Given the description of an element on the screen output the (x, y) to click on. 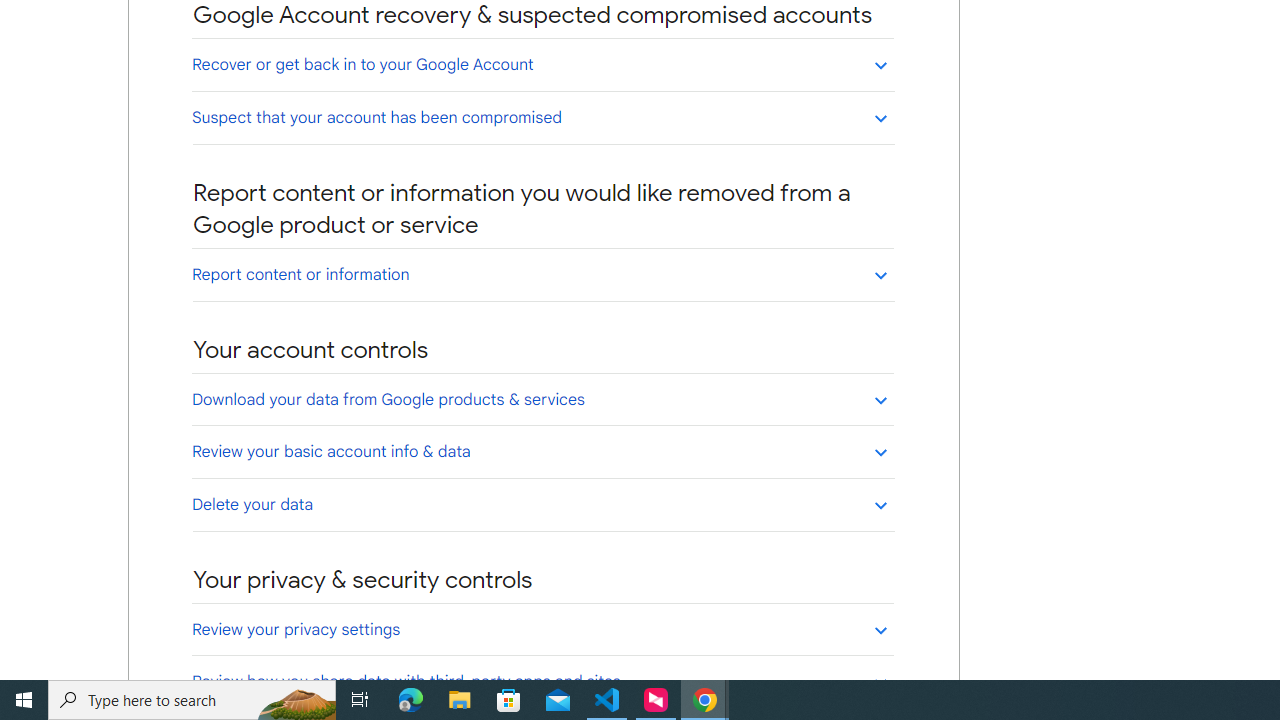
Review your basic account info & data (542, 451)
Review how you share data with third-party apps and sites (542, 681)
Delete your data (542, 504)
Report content or information (542, 273)
Download your data from Google products & services (542, 399)
Suspect that your account has been compromised (542, 117)
Review your privacy settings (542, 629)
Recover or get back in to your Google Account (542, 64)
